Given the description of an element on the screen output the (x, y) to click on. 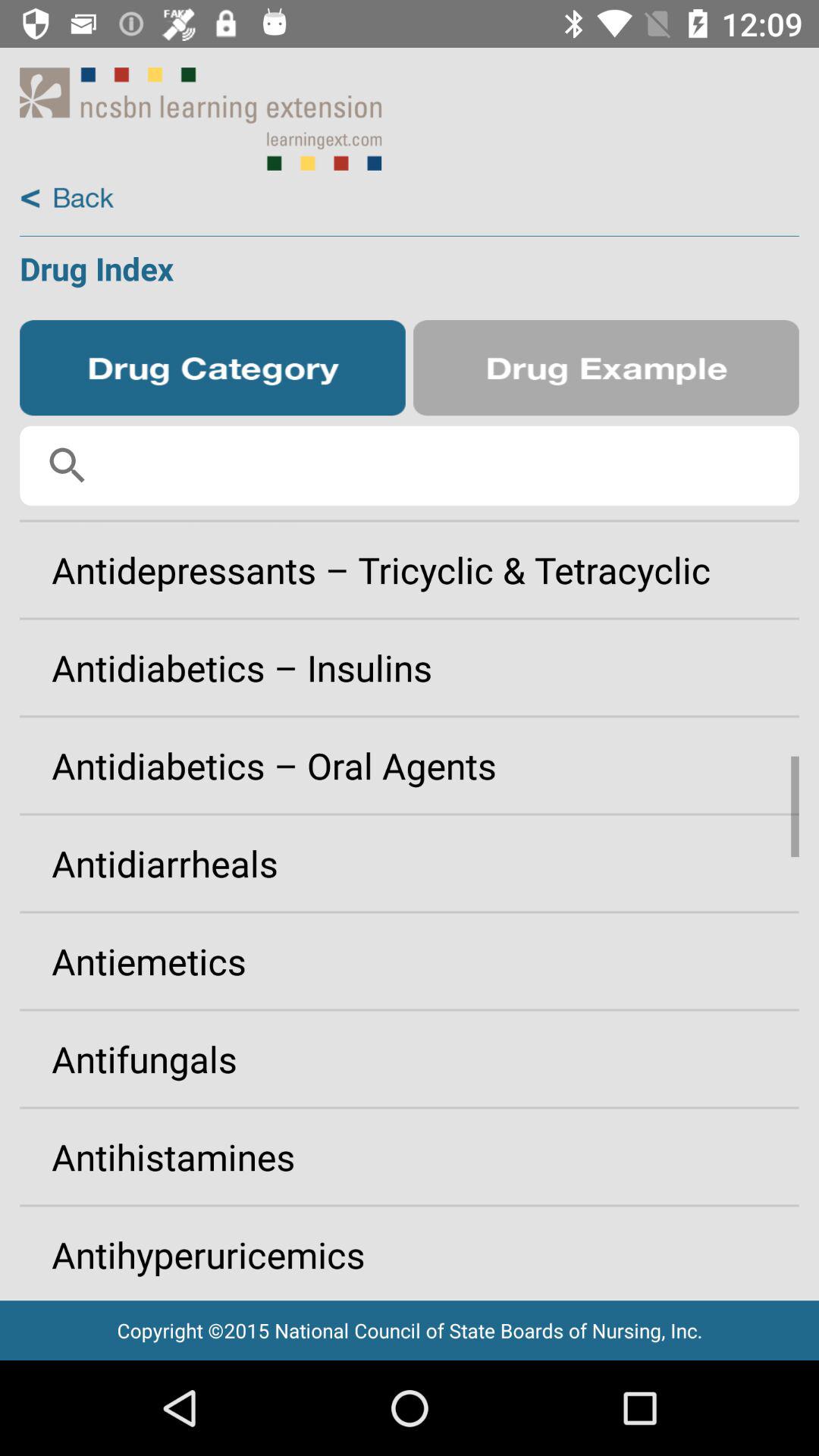
launch the antiemetics icon (409, 960)
